Given the description of an element on the screen output the (x, y) to click on. 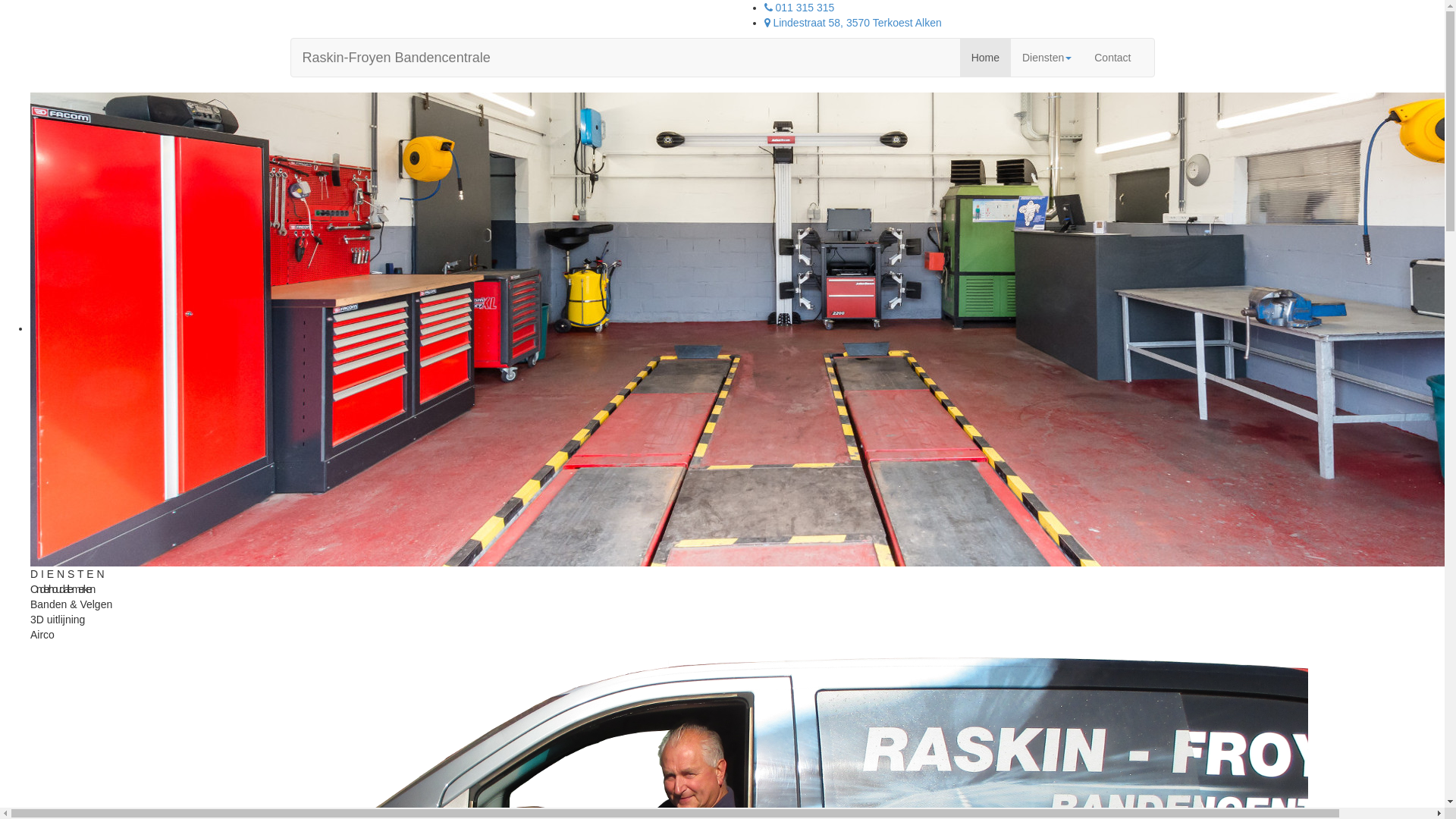
Contact Element type: text (1112, 57)
011 315 315 Element type: text (799, 7)
Lindestraat 58, 3570 Terkoest Alken Element type: text (852, 22)
Diensten Element type: text (1046, 57)
Home Element type: text (985, 57)
Raskin-Froyen Bandencentrale Element type: text (396, 57)
